Given the description of an element on the screen output the (x, y) to click on. 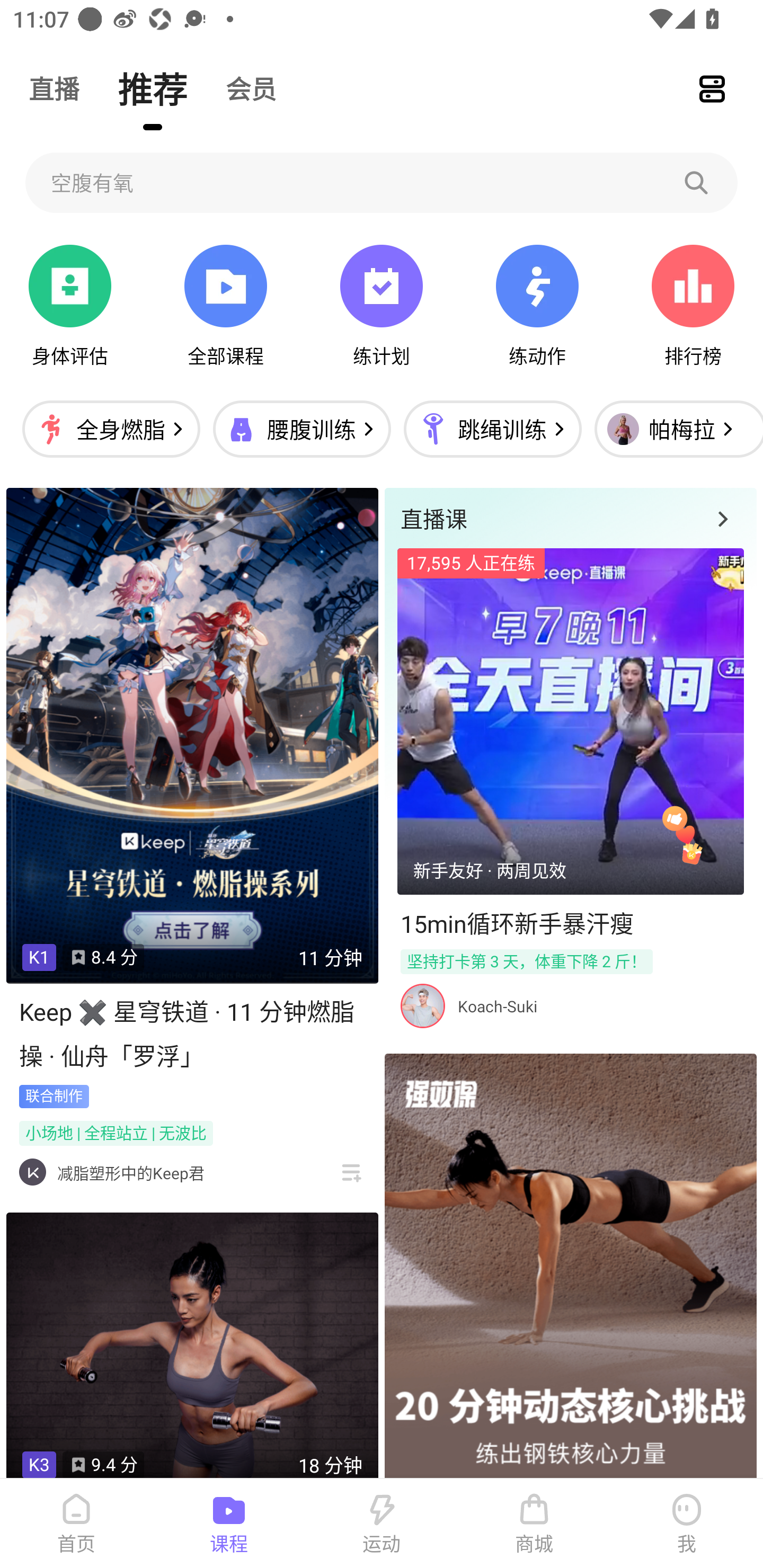
直播 (53, 88)
推荐 (152, 88)
会员 (251, 88)
空腹有氧 (381, 182)
身体评估 (69, 306)
全部课程 (225, 306)
练计划 (381, 306)
练动作 (537, 306)
排行榜 (692, 306)
全身燃脂 更多 (110, 428)
腰腹训练 更多 (301, 428)
跳绳训练 更多 (492, 428)
帕梅拉 更多 (673, 428)
直播课 (570, 517)
Koach-Suki (497, 1006)
减脂塑形中的Keep君 (130, 1172)
K3 9.4 分 18 分钟 (192, 1345)
首页 (76, 1523)
课程 (228, 1523)
运动 (381, 1523)
商城 (533, 1523)
我 (686, 1523)
